Given the description of an element on the screen output the (x, y) to click on. 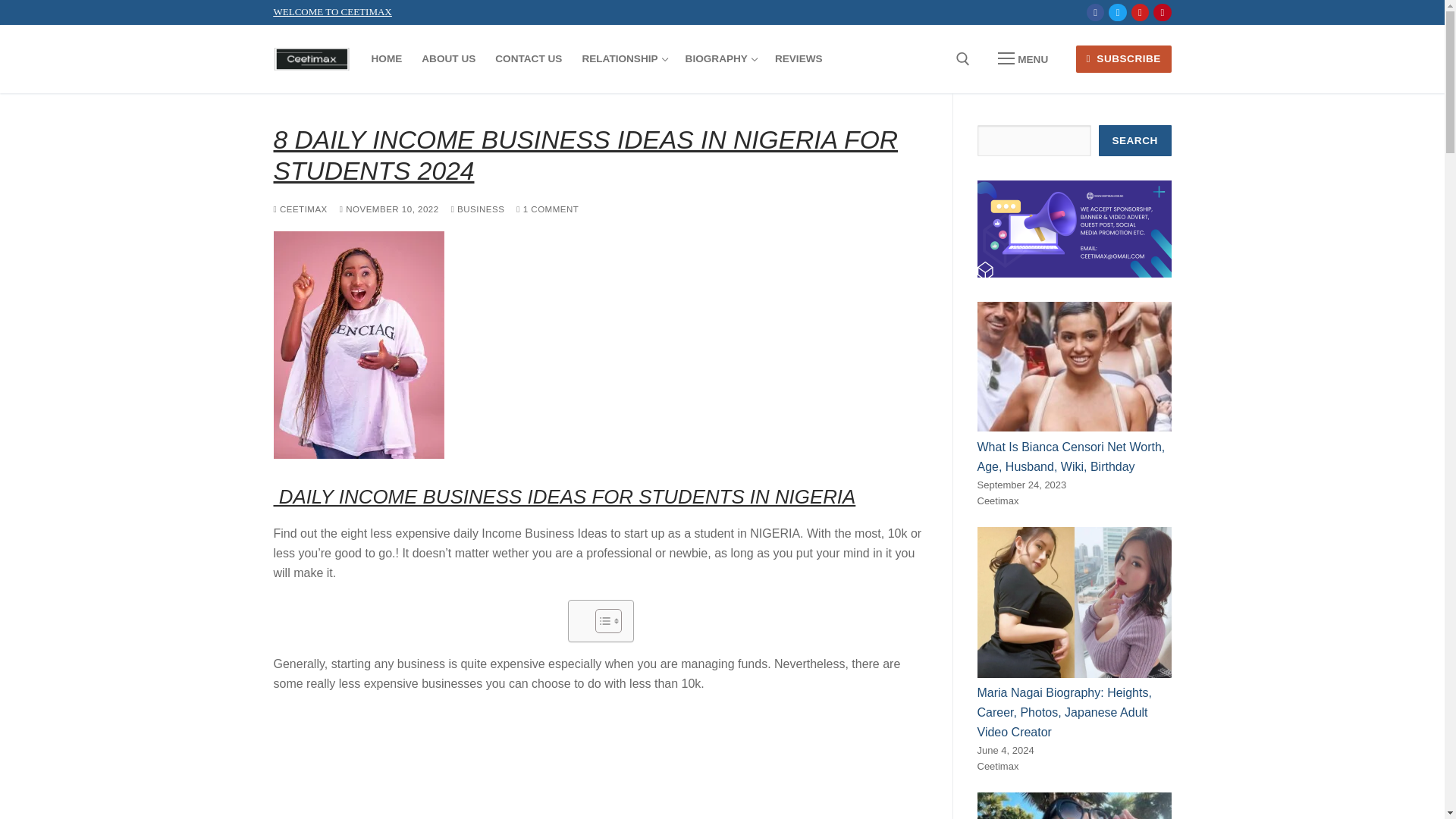
HOME (386, 59)
MENU (1022, 59)
Youtube (1139, 12)
Twitter (1117, 12)
ABOUT US (720, 59)
SUBSCRIBE (448, 59)
1 COMMENT (1123, 59)
CONTACT US (547, 208)
Facebook (528, 59)
NOVEMBER 10, 2022 (1095, 12)
REVIEWS (389, 208)
BUSINESS (798, 59)
CEETIMAX (623, 59)
